Given the description of an element on the screen output the (x, y) to click on. 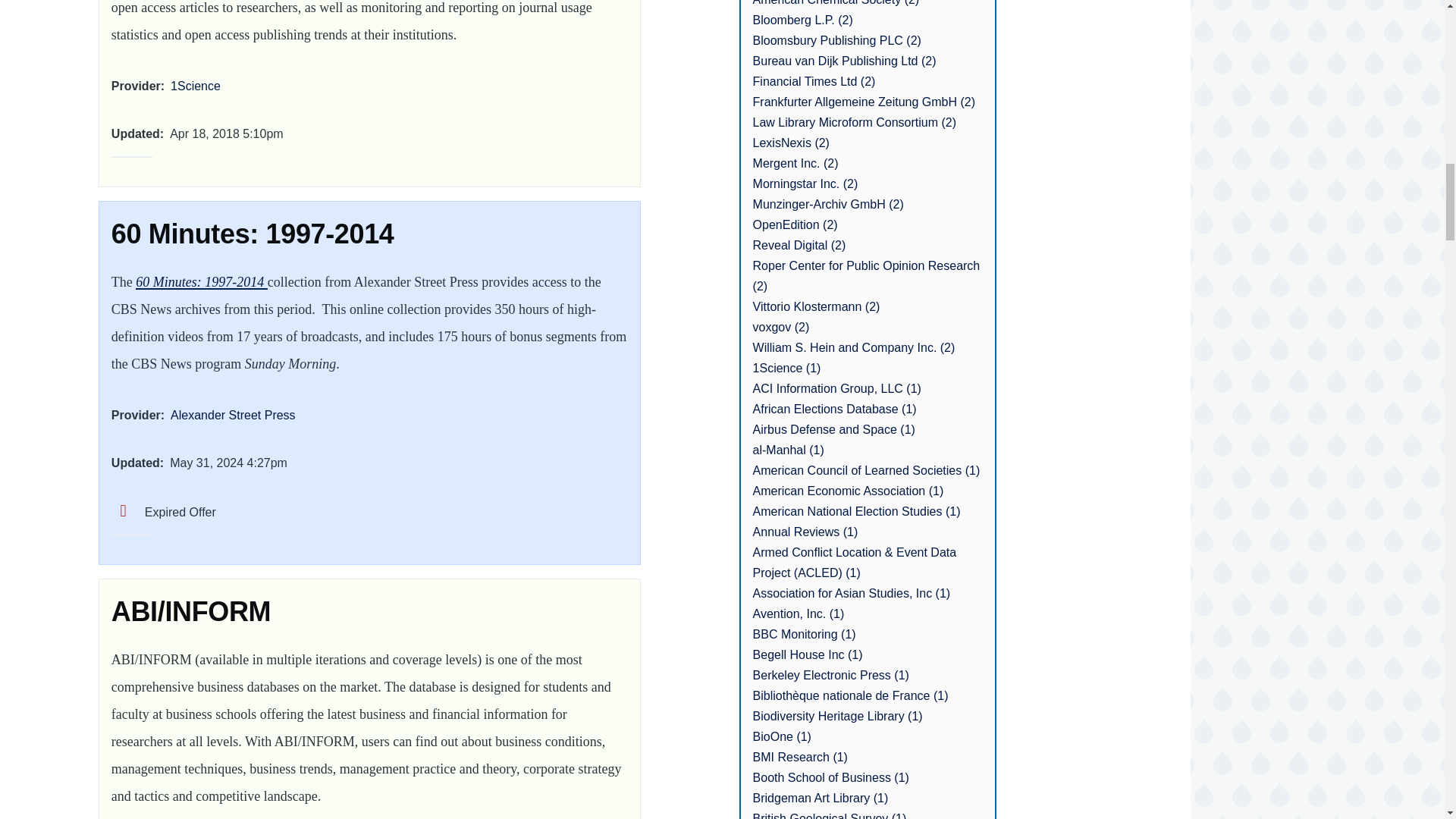
Expired Offer (163, 512)
